Given the description of an element on the screen output the (x, y) to click on. 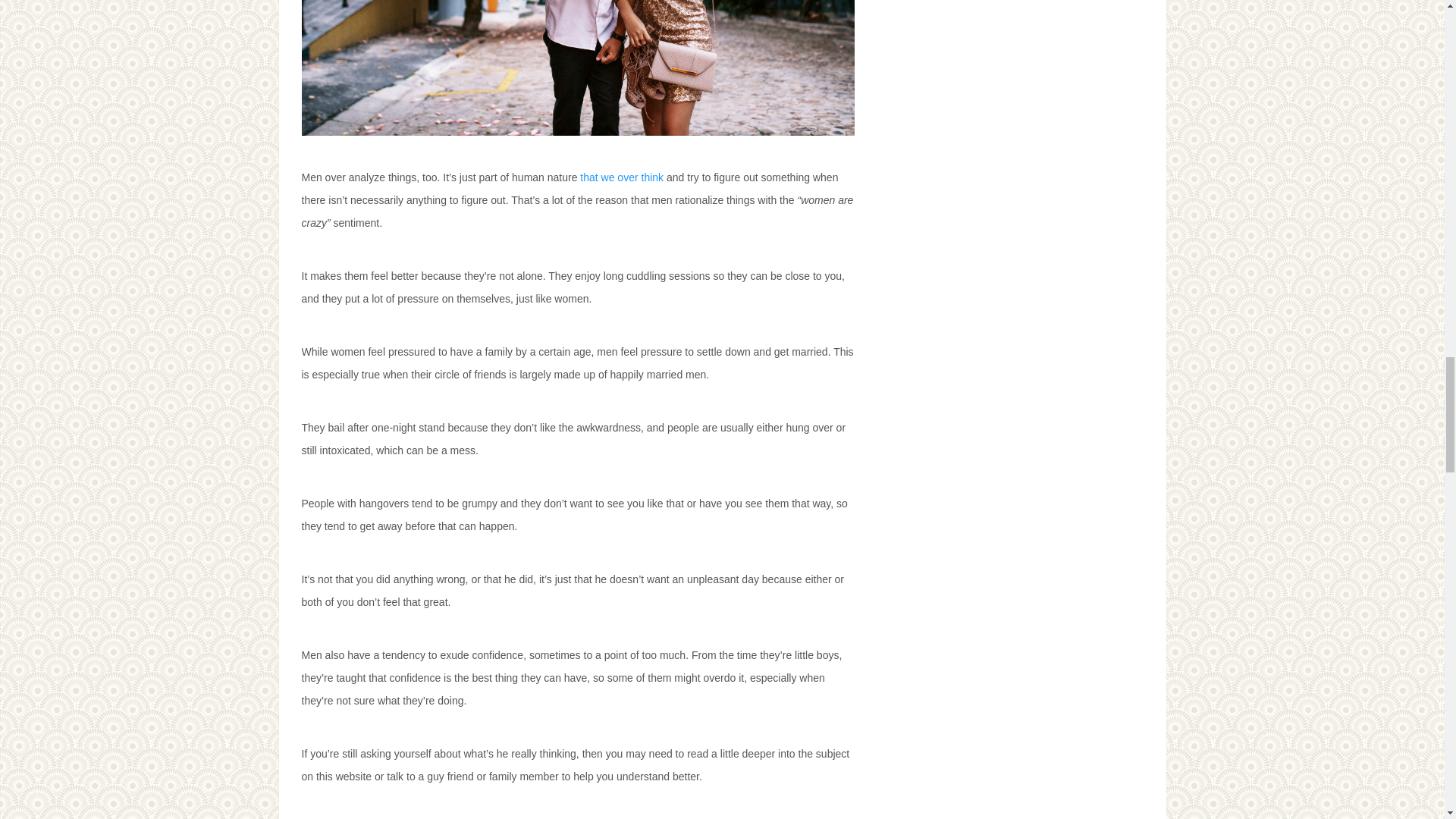
that we over think (621, 177)
